Given the description of an element on the screen output the (x, y) to click on. 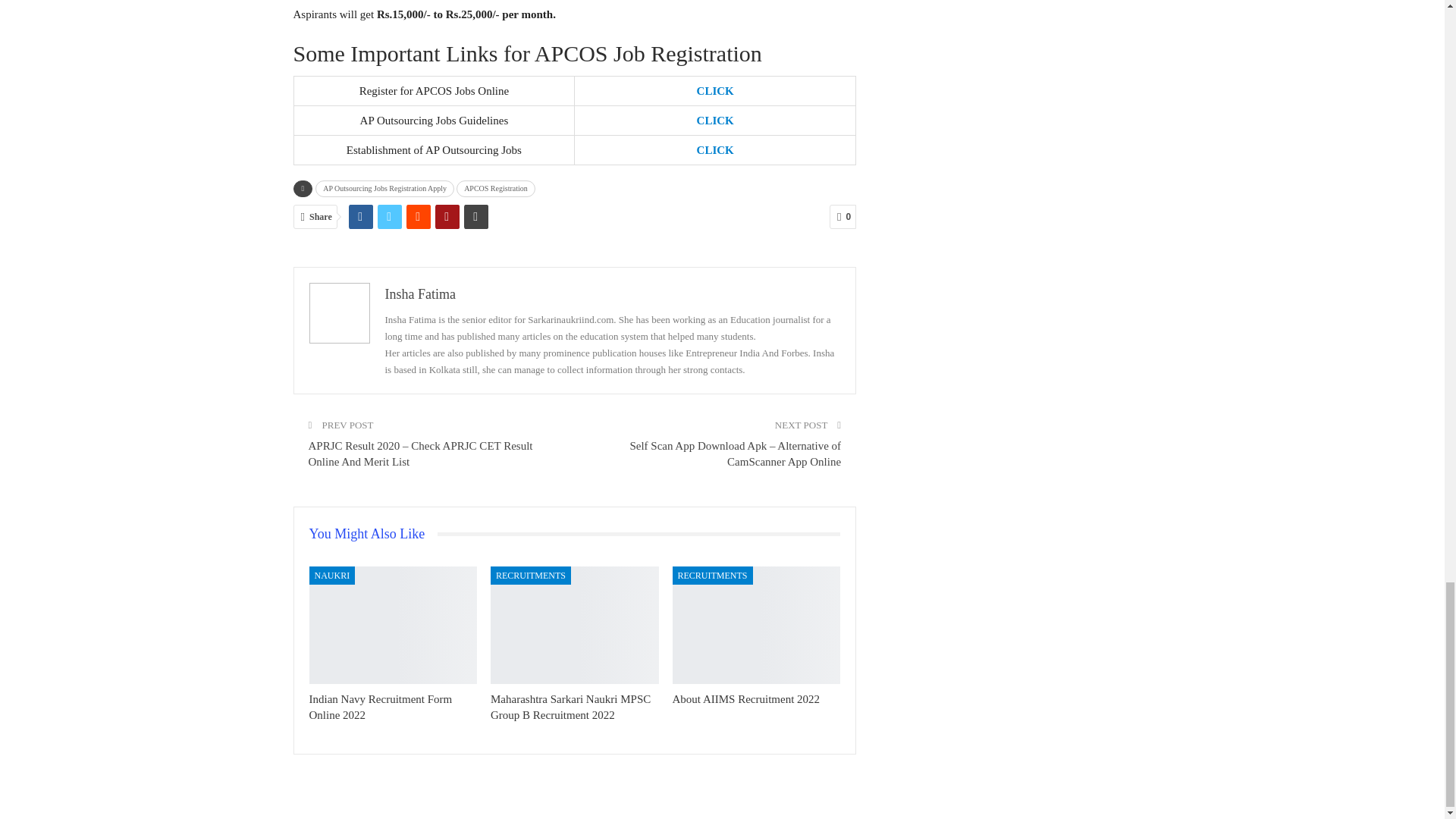
AP Outsourcing Jobs Registration Apply (384, 188)
Indian Navy Recruitment Form Online 2022 (392, 624)
Indian Navy Recruitment Form Online 2022 (380, 706)
CLICK (715, 120)
APCOS Registration (496, 188)
CLICK (715, 150)
0 (842, 216)
Maharashtra Sarkari Naukri MPSC Group B Recruitment 2022 (570, 706)
About AIIMS Recruitment 2022 (756, 624)
Maharashtra Sarkari Naukri MPSC Group B Recruitment 2022 (574, 624)
